Given the description of an element on the screen output the (x, y) to click on. 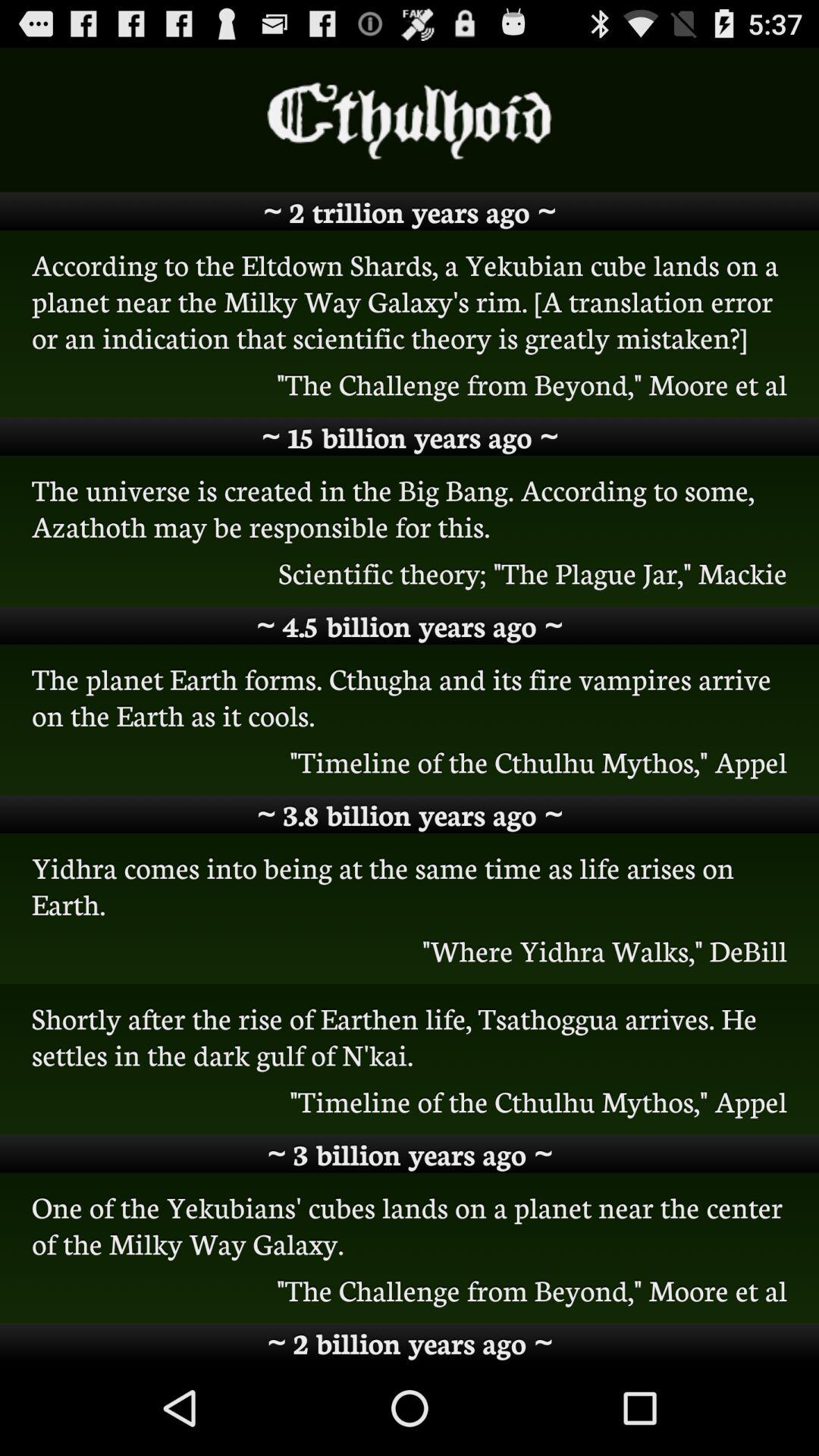
turn on item above timeline of the icon (409, 1035)
